Given the description of an element on the screen output the (x, y) to click on. 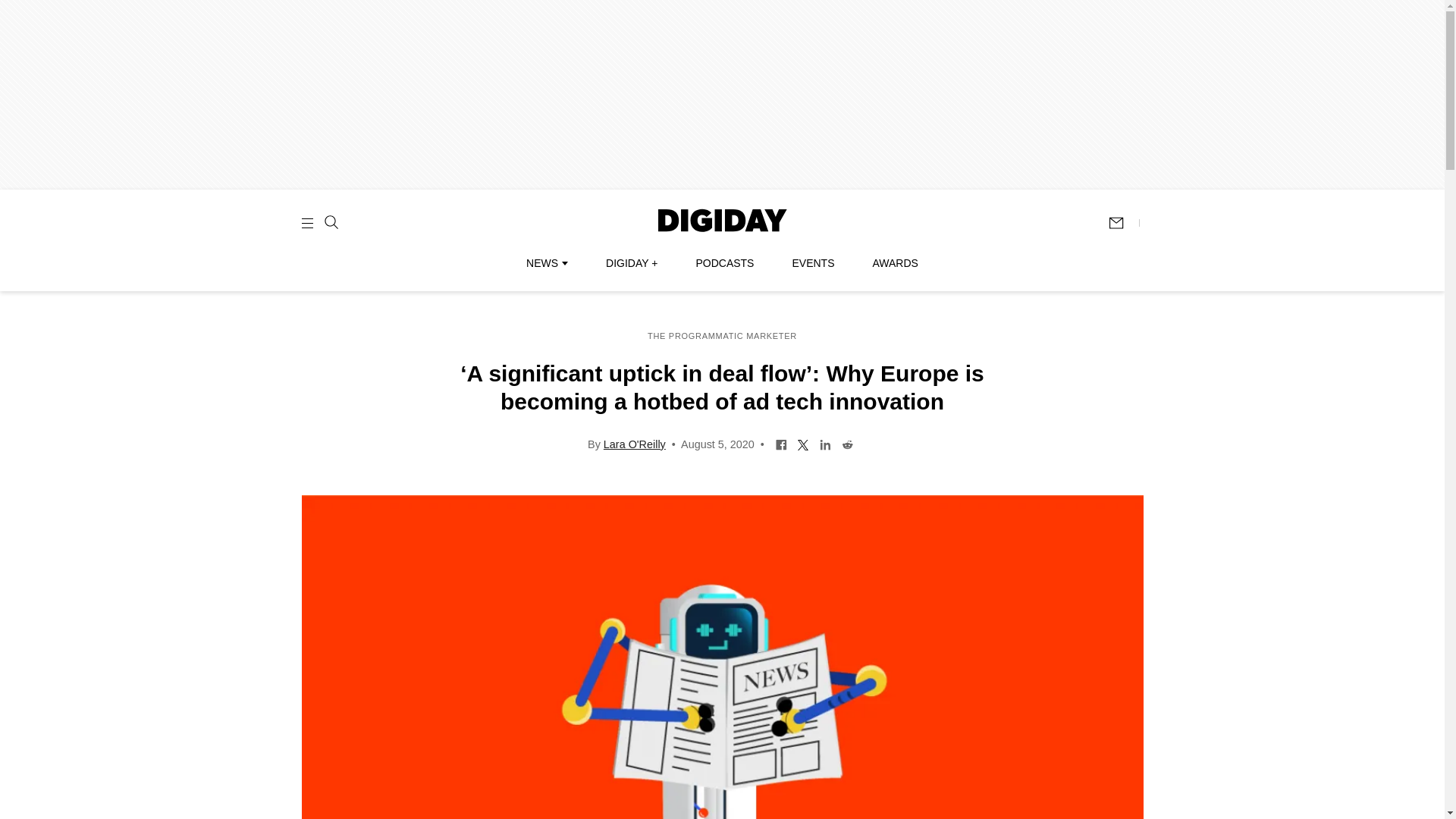
NEWS (546, 262)
Subscribe (1123, 223)
PODCASTS (725, 262)
Share on Reddit (847, 443)
Share on LinkedIn (824, 443)
Share on Facebook (780, 443)
AWARDS (894, 262)
EVENTS (813, 262)
Share on Twitter (802, 443)
